Given the description of an element on the screen output the (x, y) to click on. 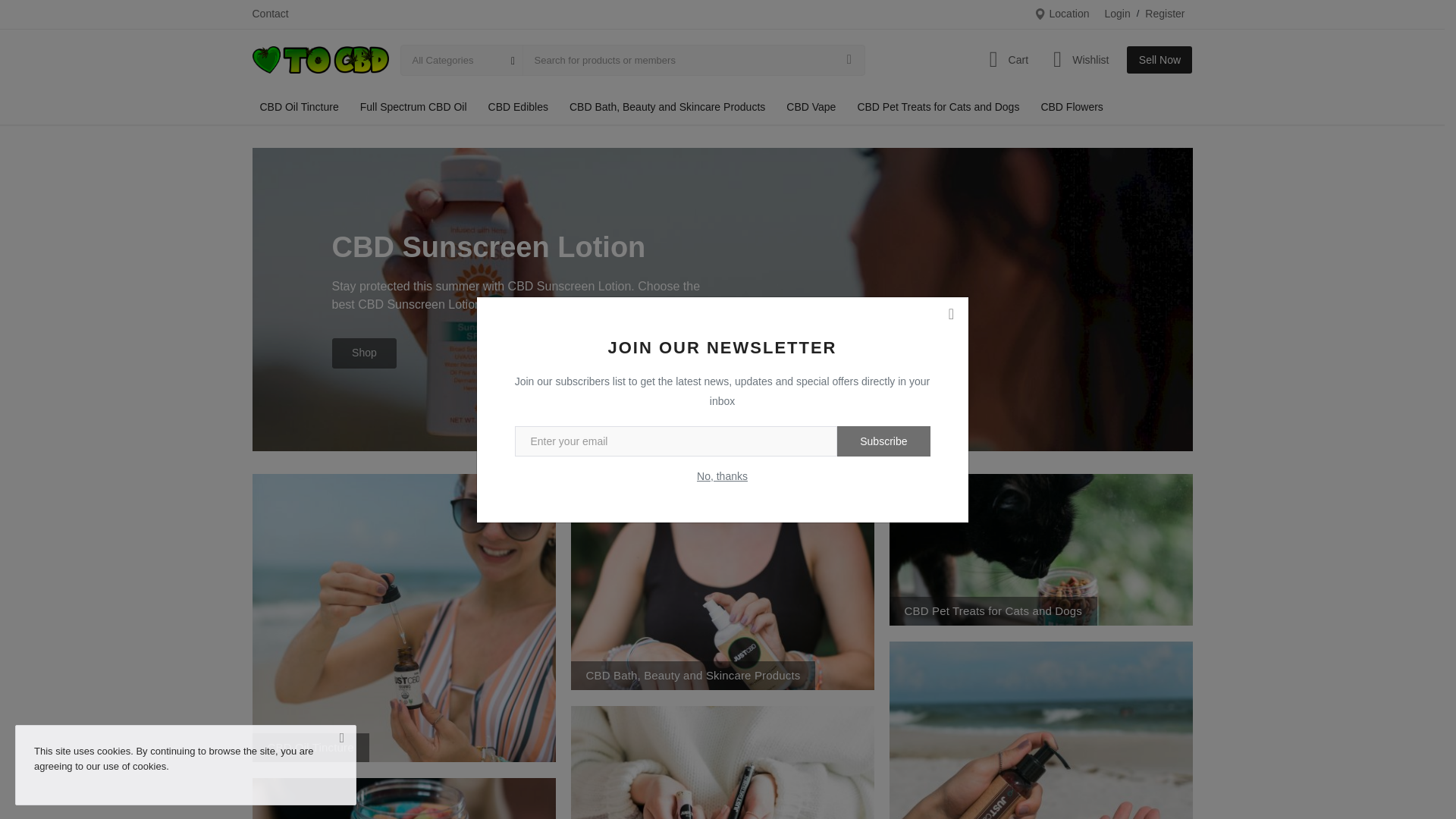
find out this here (546, 542)
ADMINISTRATOR (417, 81)
Disclaimer (990, 354)
Latest Article (996, 172)
read the full info here (602, 552)
Search for: (1049, 47)
Search (1050, 85)
Privacy Policy (999, 306)
discover more here (423, 345)
Contact Us (991, 258)
Log in (980, 588)
Blog (976, 510)
August 2020 (996, 432)
Search (1050, 85)
Search (1050, 85)
